Given the description of an element on the screen output the (x, y) to click on. 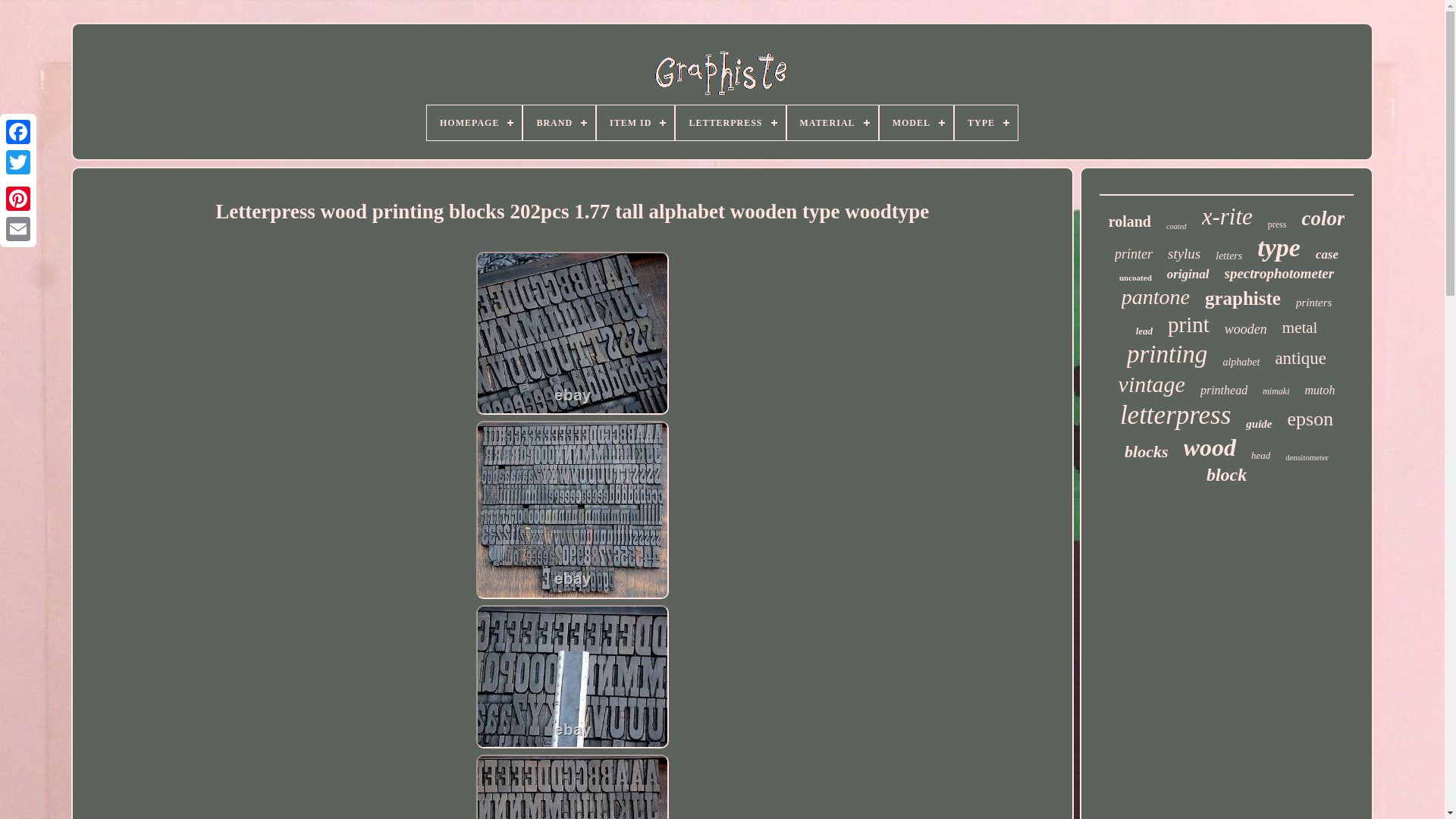
Facebook (17, 132)
HOMEPAGE (473, 122)
ITEM ID (635, 122)
BRAND (558, 122)
